Given the description of an element on the screen output the (x, y) to click on. 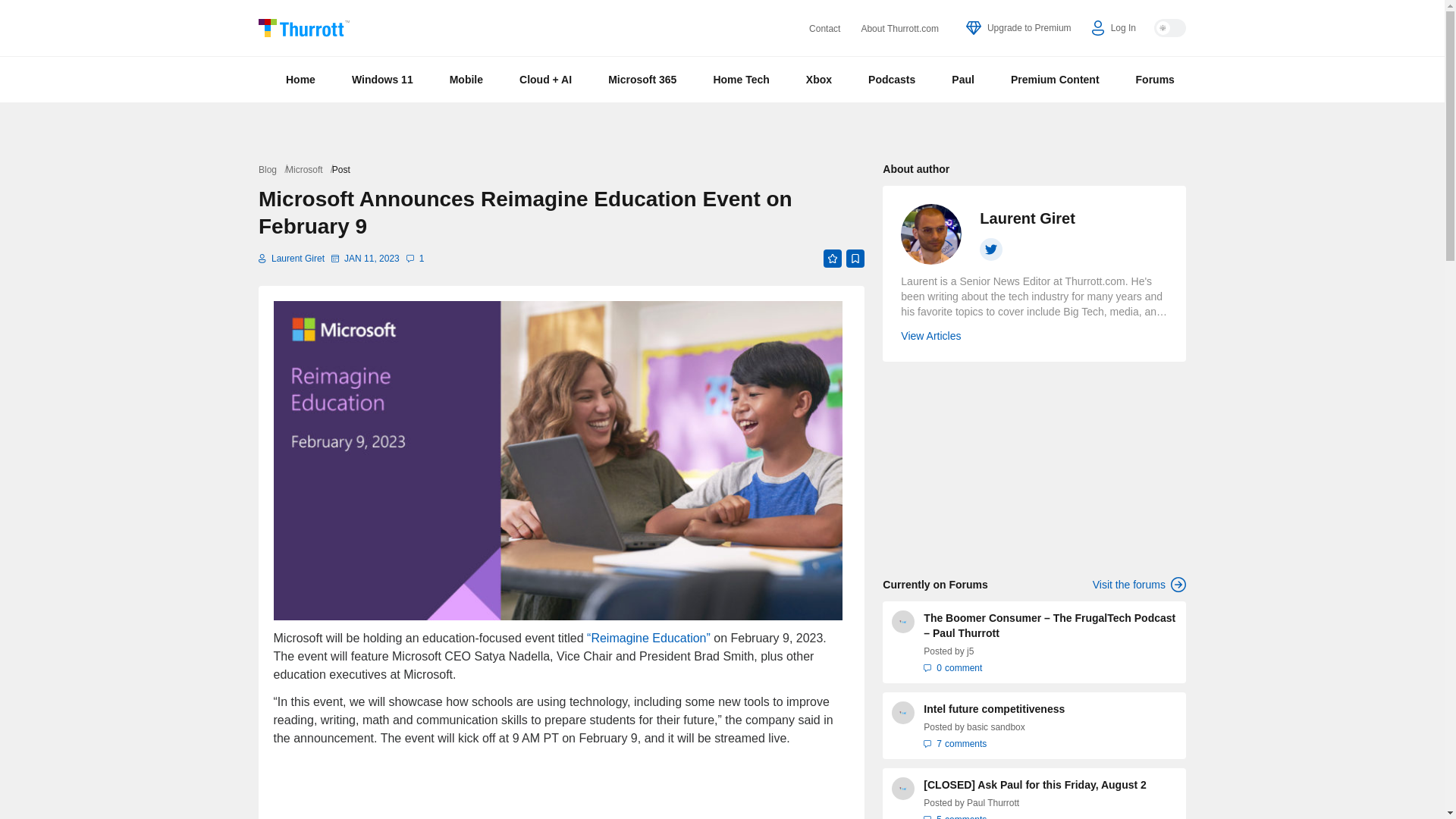
Windows 11 (382, 79)
Mobile (466, 79)
Upgrade to Premium (1018, 28)
Microsoft 365 (641, 79)
Home Tech (740, 79)
Home (300, 79)
Log In (1113, 28)
Contact (824, 28)
About Thurrott.com (899, 28)
